Given the description of an element on the screen output the (x, y) to click on. 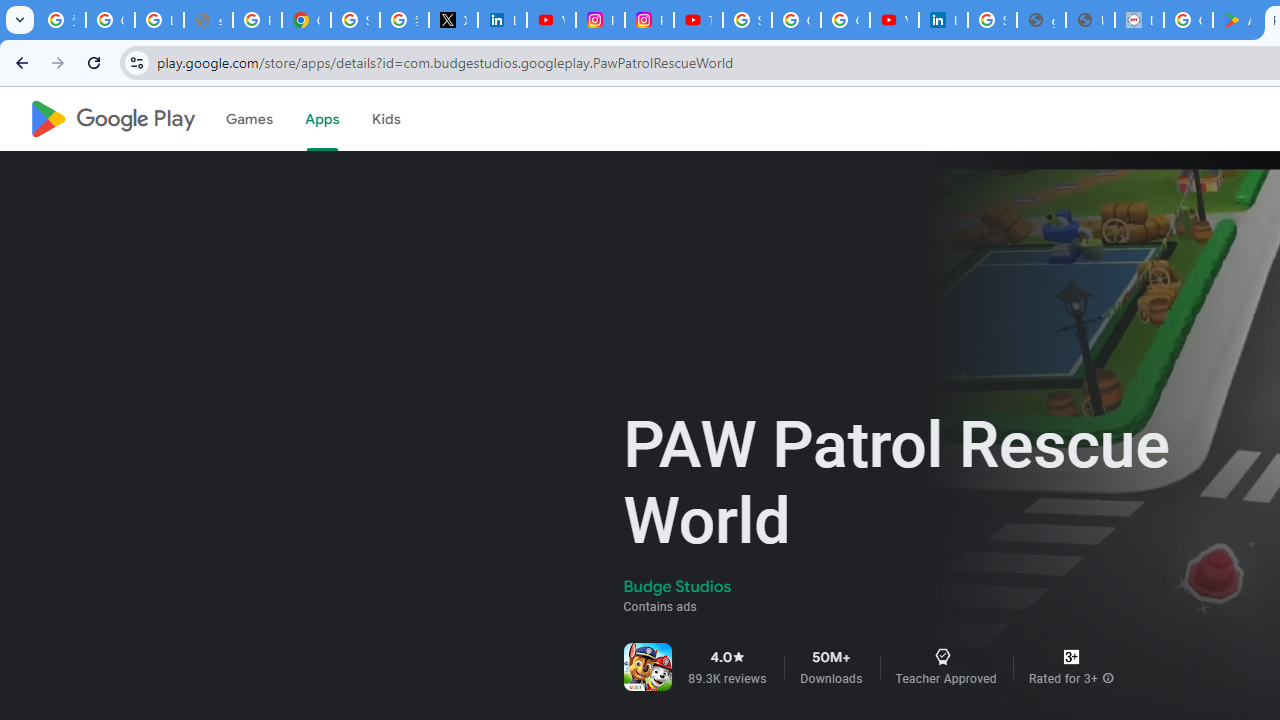
support.google.com - Network error (208, 20)
X (452, 20)
Apps (321, 119)
Data Privacy Framework (1138, 20)
